Given the description of an element on the screen output the (x, y) to click on. 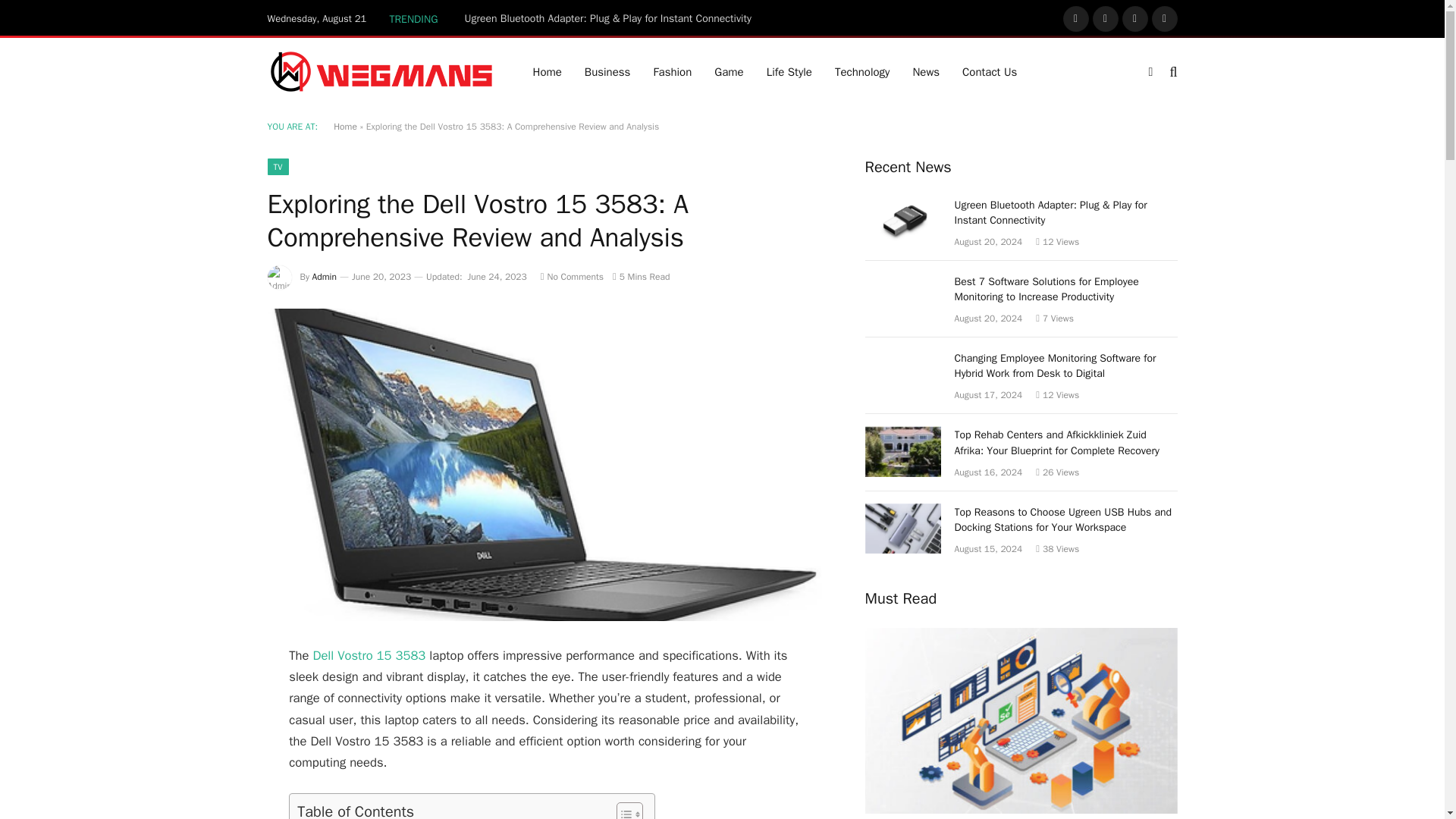
Admin (324, 276)
Life Style (789, 71)
Posts by Admin (324, 276)
wegmans.co.uk (380, 71)
Business (607, 71)
Facebook (1075, 18)
Instagram (1135, 18)
Technology (862, 71)
Home (344, 126)
No Comments (572, 276)
